Given the description of an element on the screen output the (x, y) to click on. 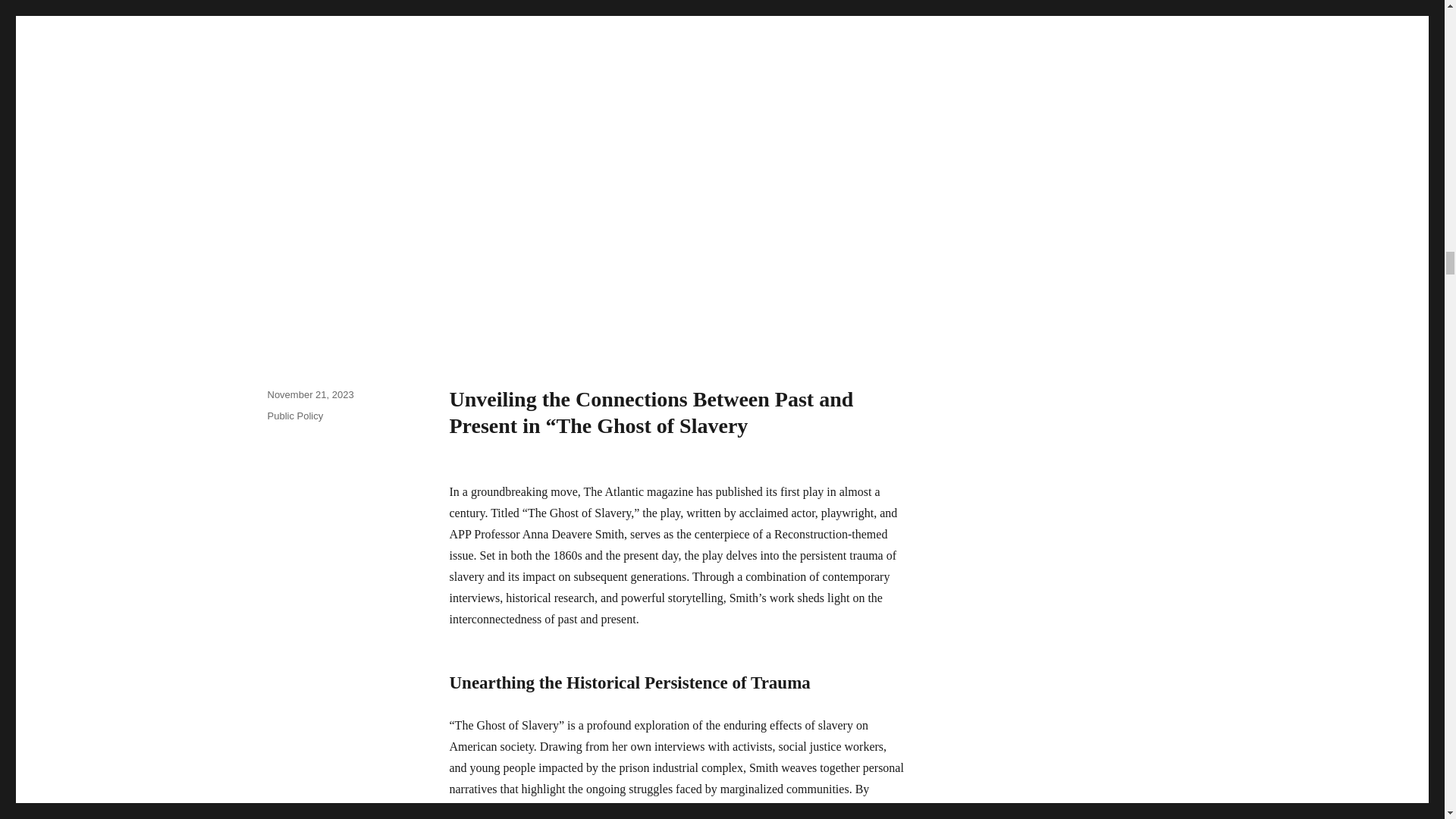
Public Policy (294, 415)
November 21, 2023 (309, 394)
